Given the description of an element on the screen output the (x, y) to click on. 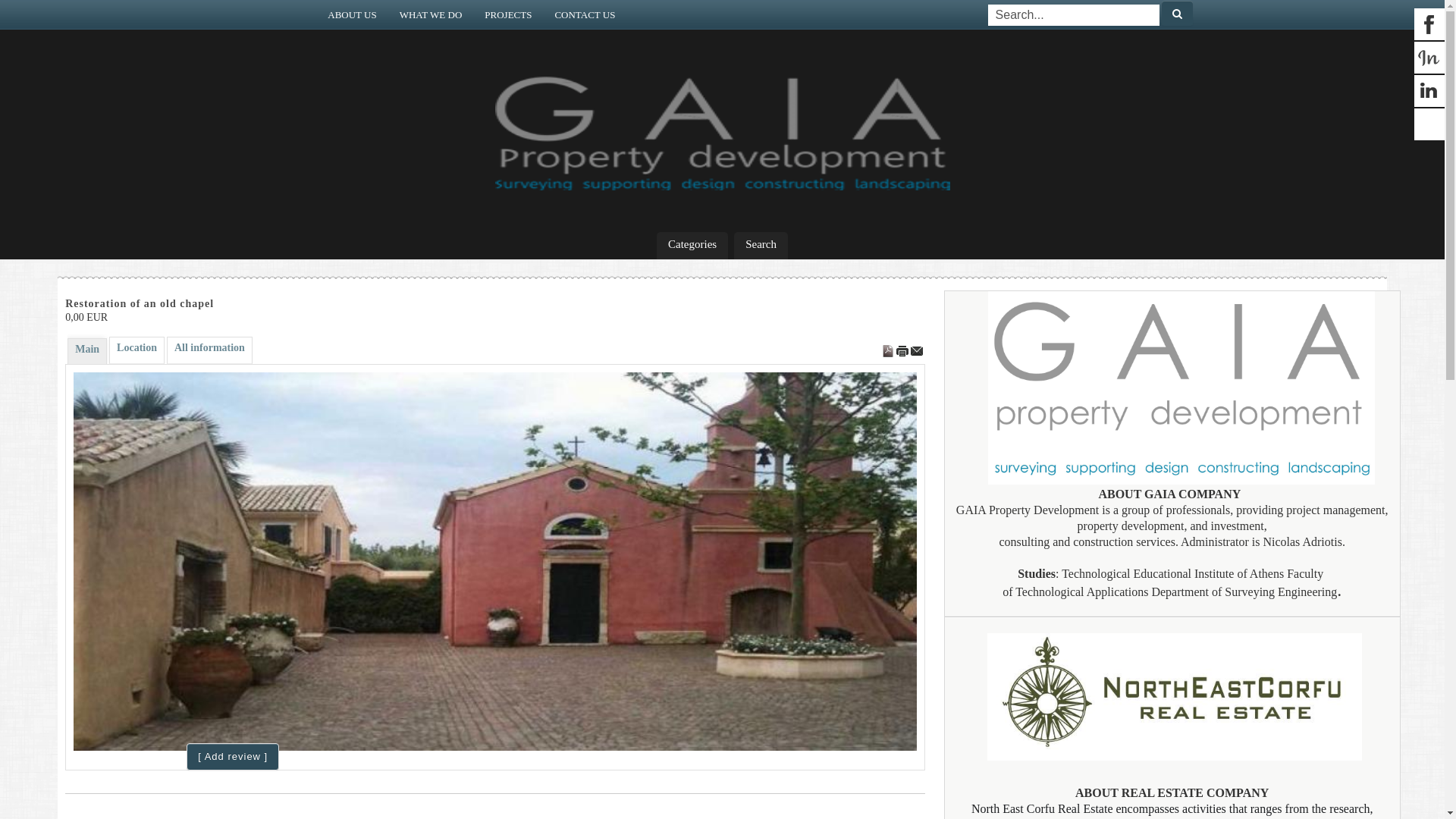
Restoration of an old chapel Element type: hover (494, 561)
CONTACT US Element type: text (584, 14)
All information Element type: text (209, 350)
[ Add review ] Element type: text (232, 756)
Main Element type: text (86, 351)
E-mail Element type: hover (916, 350)
Search Element type: text (760, 245)
PROJECTS Element type: text (507, 14)
Location Element type: text (136, 350)
Categories Element type: text (692, 245)
ABOUT US Element type: text (351, 14)
Print Element type: hover (903, 350)
WHAT WE DO Element type: text (430, 14)
PDF Element type: hover (888, 350)
